Given the description of an element on the screen output the (x, y) to click on. 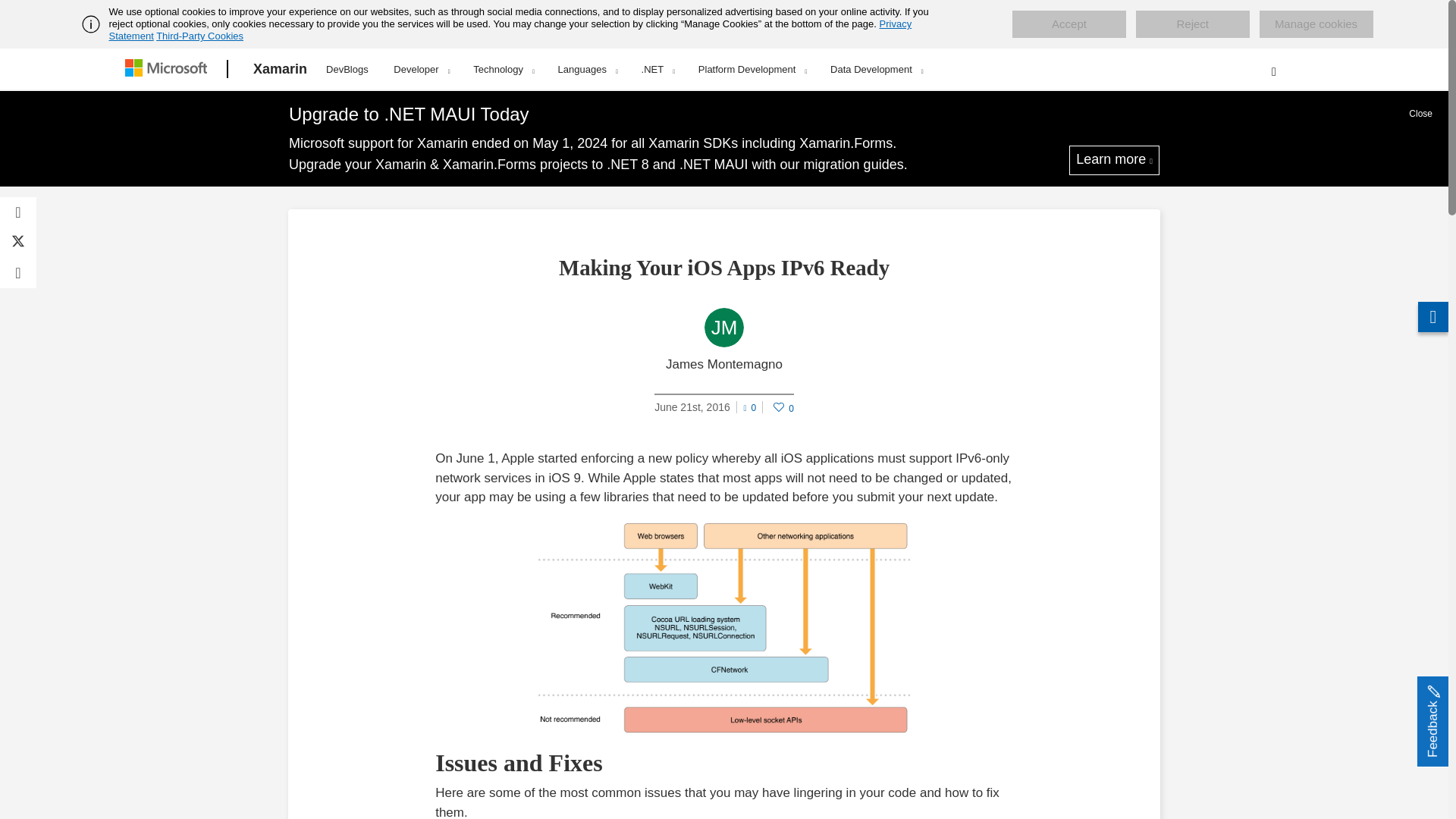
Reject (1192, 23)
Developer (420, 69)
Manage cookies (1316, 23)
Languages (587, 69)
Xamarin (280, 69)
Privacy Statement (510, 29)
DevBlogs (346, 67)
Technology (503, 69)
Third-Party Cookies (199, 35)
Accept (1068, 23)
